Given the description of an element on the screen output the (x, y) to click on. 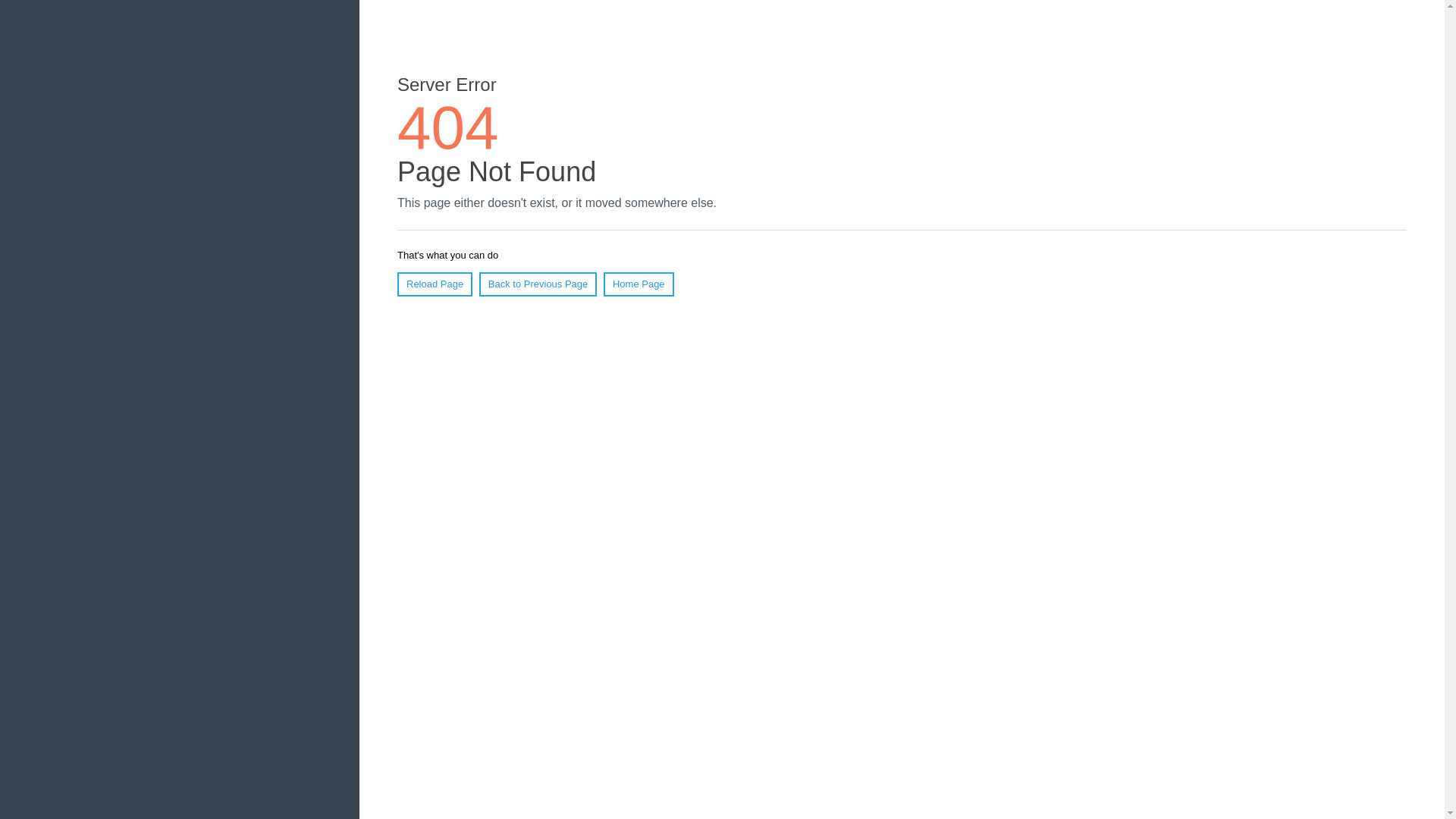
Back to Previous Page Element type: text (538, 284)
Home Page Element type: text (638, 284)
Reload Page Element type: text (434, 284)
